Given the description of an element on the screen output the (x, y) to click on. 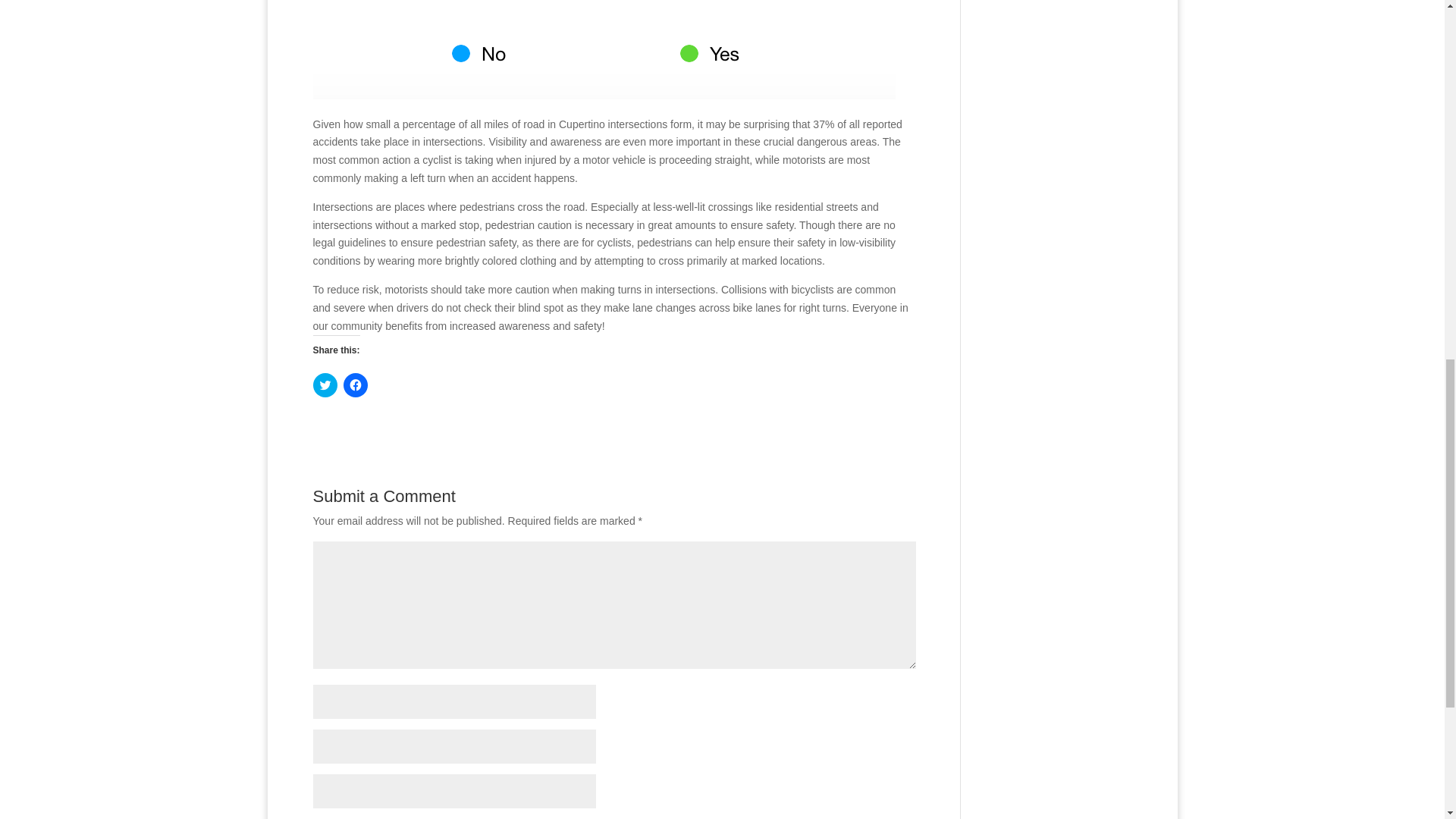
Click to share on Facebook (354, 385)
Click to share on Twitter (324, 385)
